Given the description of an element on the screen output the (x, y) to click on. 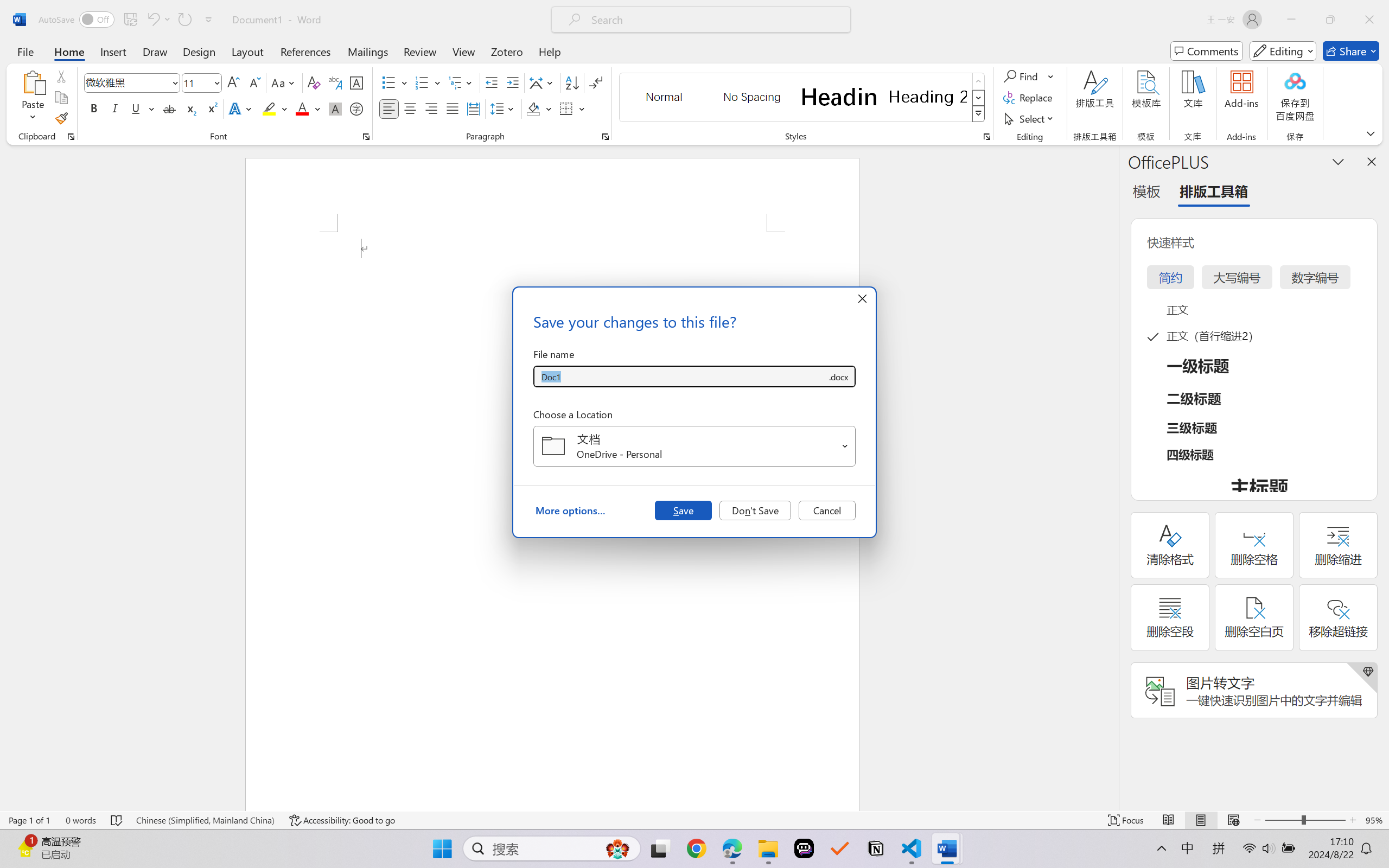
Choose a Location (694, 446)
Repeat Style (184, 19)
